Given the description of an element on the screen output the (x, y) to click on. 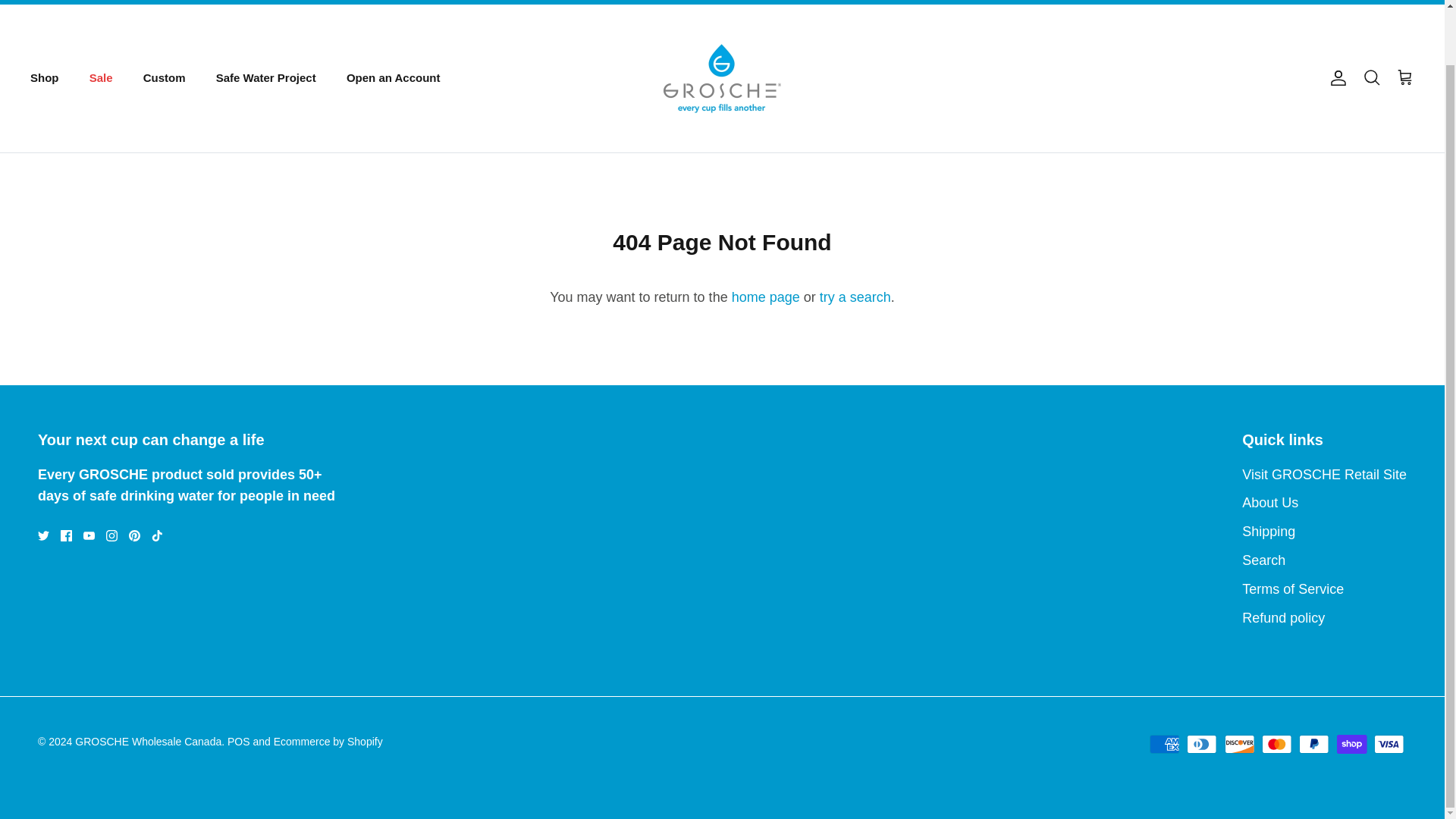
Mastercard (1276, 743)
Facebook (66, 535)
Pinterest (134, 535)
Safe Water Project (266, 78)
Youtube (88, 535)
Shop (44, 78)
Sale (100, 78)
GROSCHE Wholesale Canada (721, 78)
Account (1335, 77)
Diners Club (1201, 743)
